Given the description of an element on the screen output the (x, y) to click on. 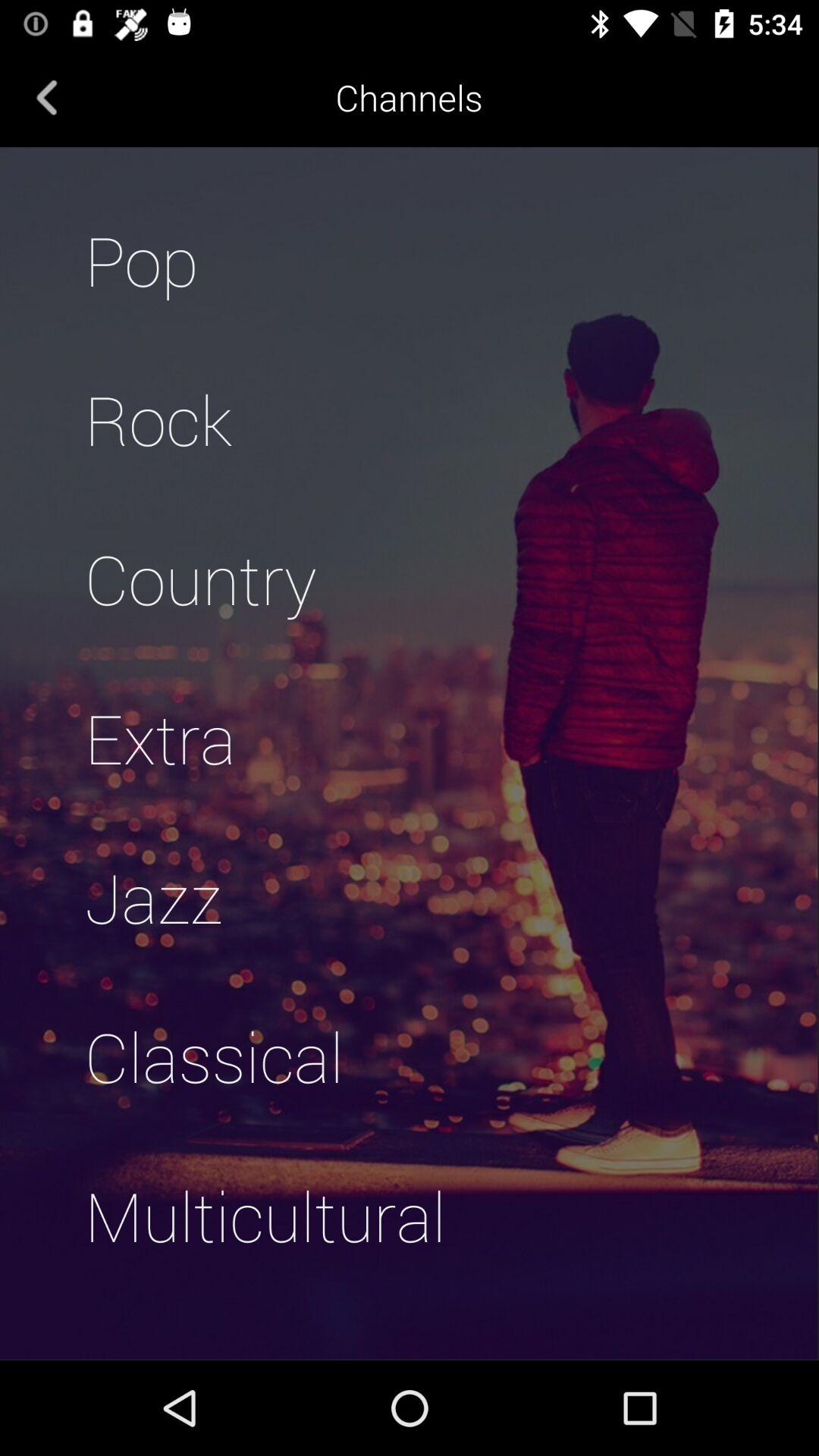
click the item next to channels (47, 97)
